Given the description of an element on the screen output the (x, y) to click on. 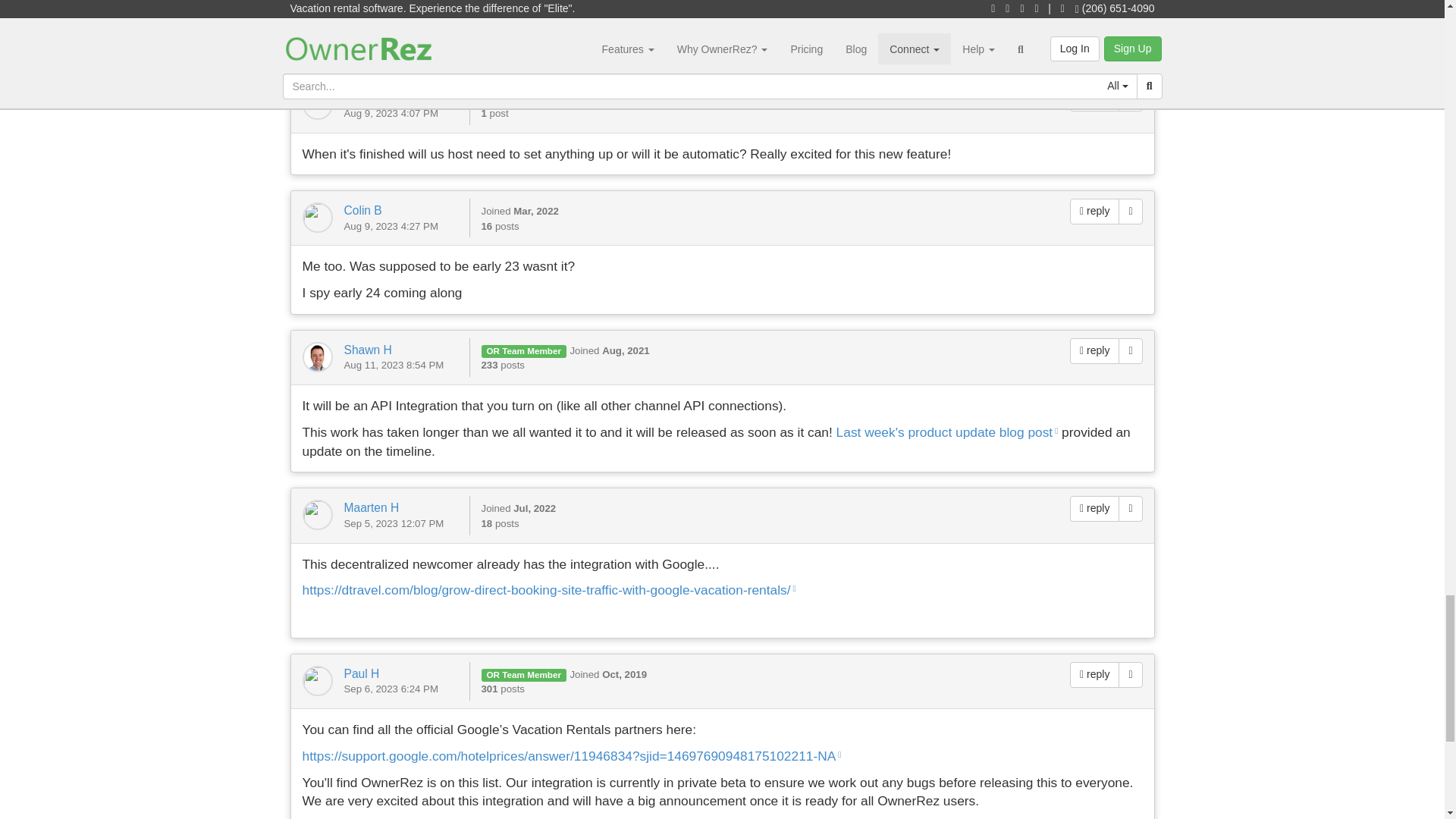
Permanent link (1129, 211)
Permanent link (1129, 350)
Permanent link (1129, 98)
